Given the description of an element on the screen output the (x, y) to click on. 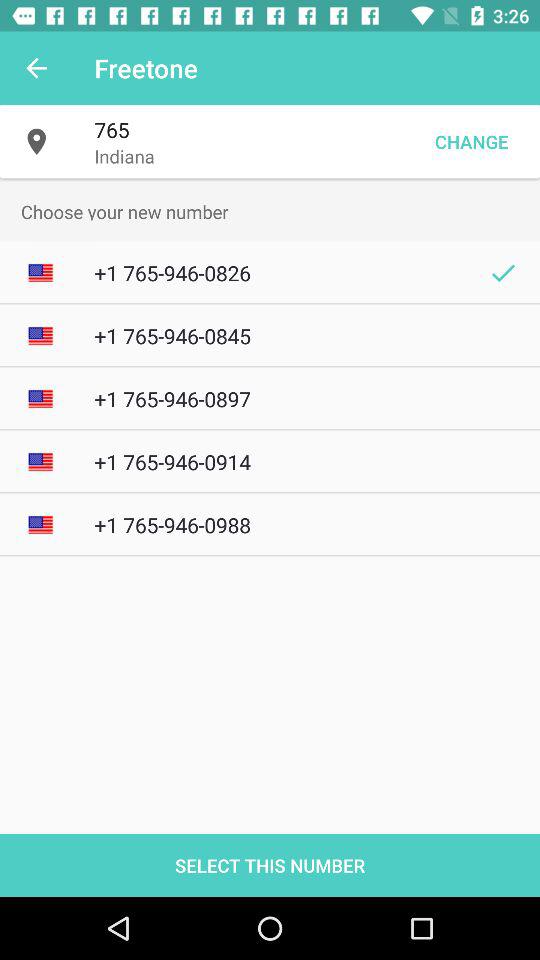
tap the select this number icon (270, 864)
